Given the description of an element on the screen output the (x, y) to click on. 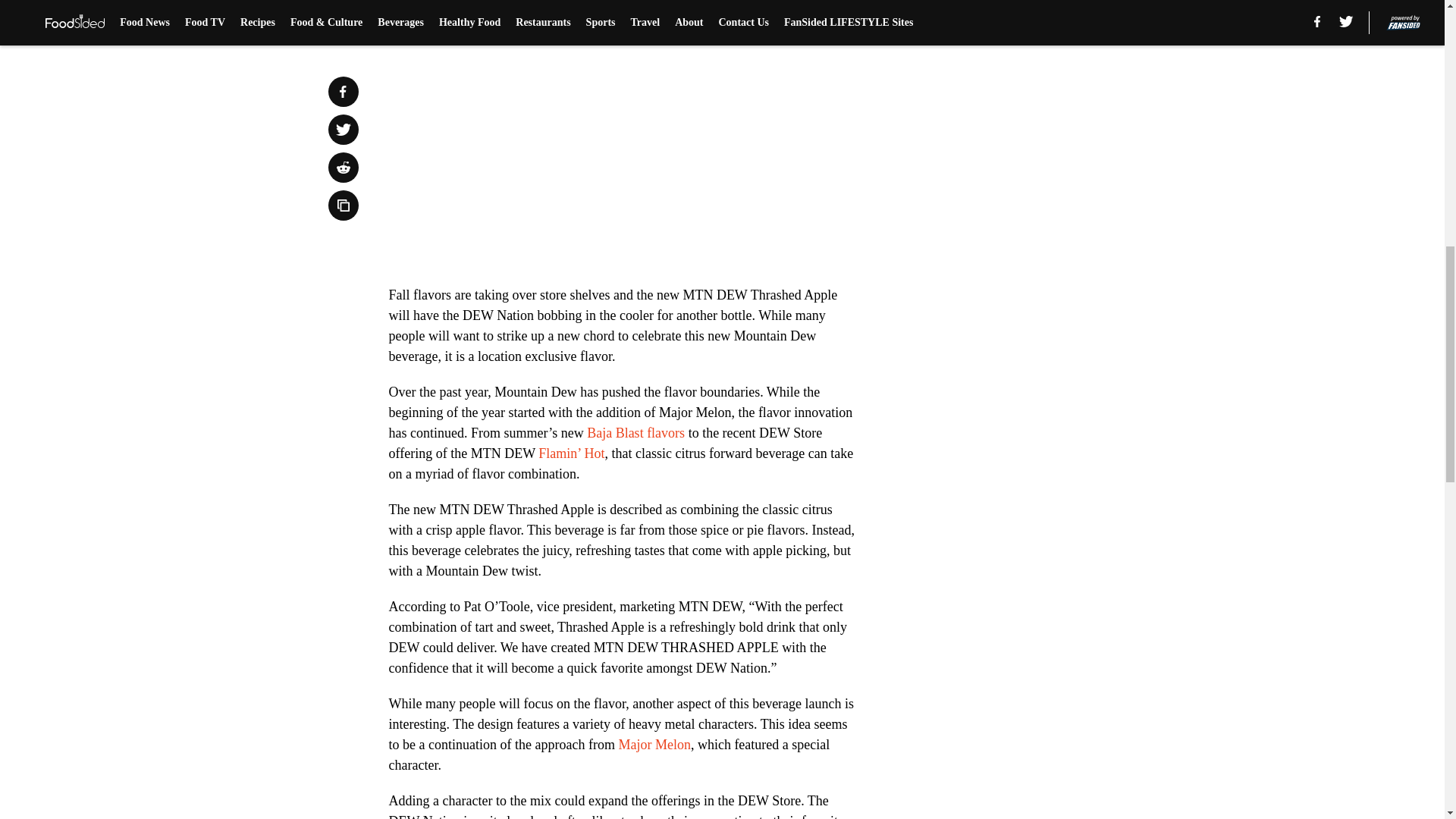
Baja Blast flavors (635, 432)
Major Melon (652, 744)
